Given the description of an element on the screen output the (x, y) to click on. 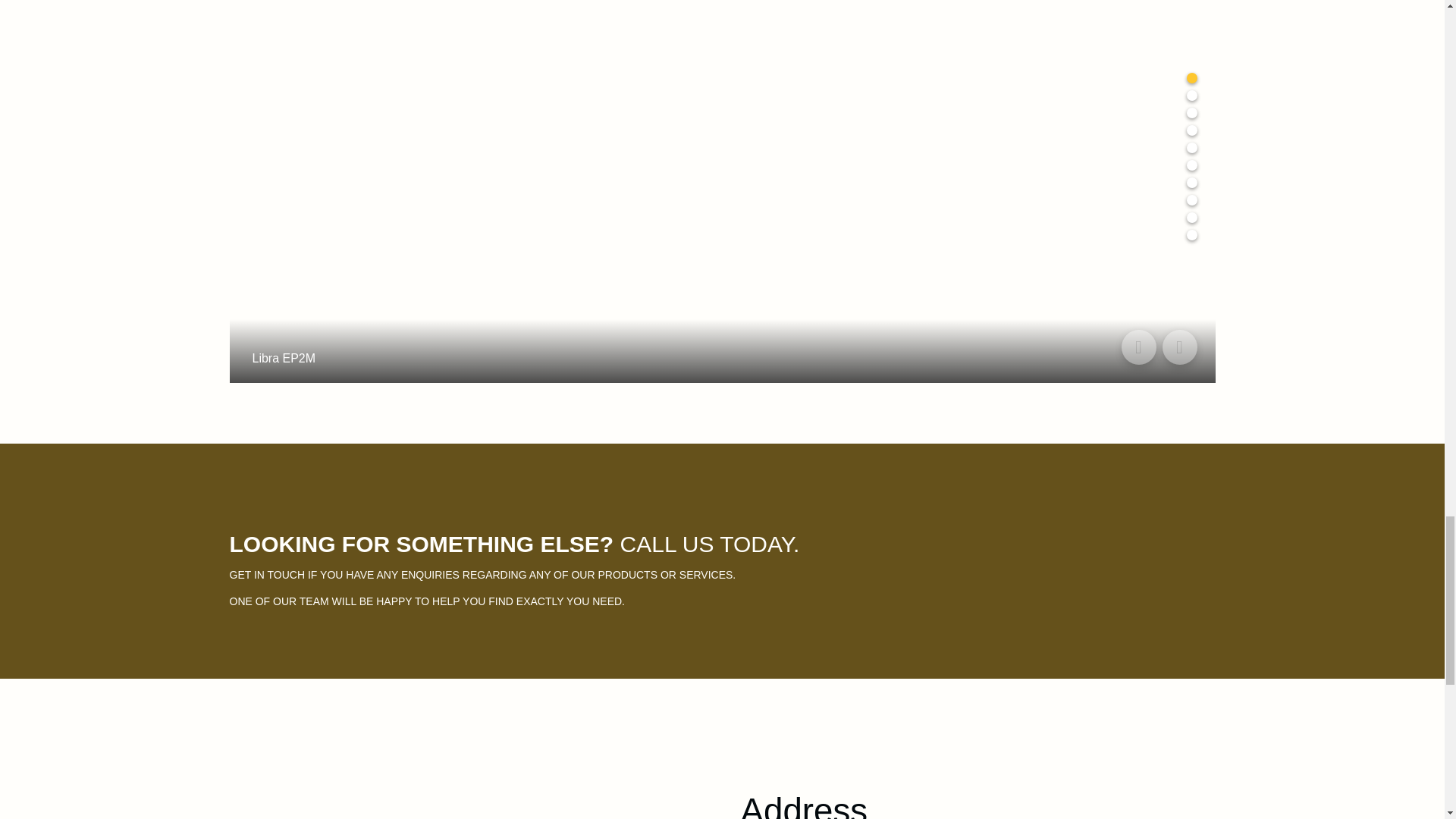
2 (1191, 95)
1 (1191, 77)
3 (1191, 112)
